Given the description of an element on the screen output the (x, y) to click on. 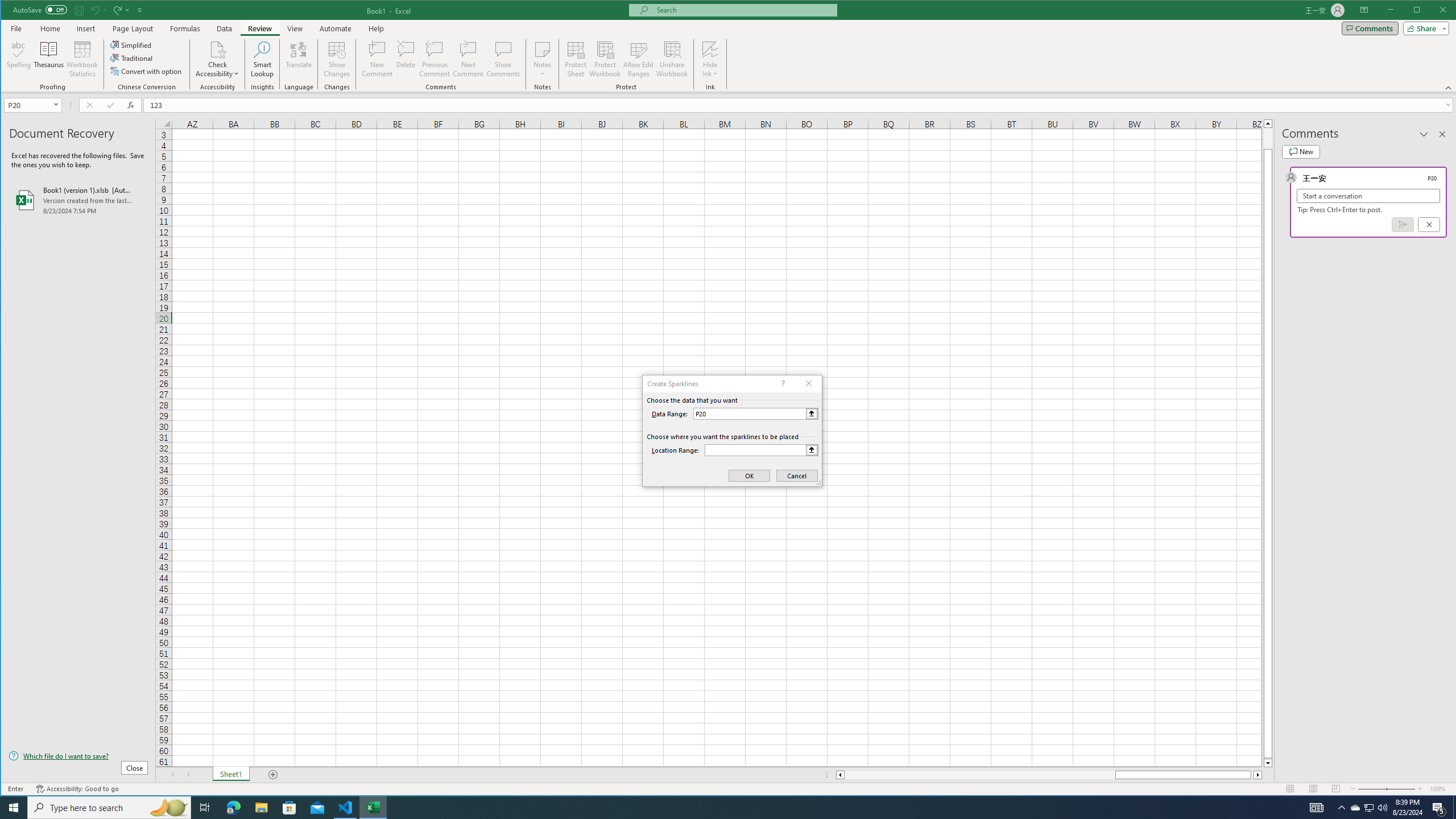
Protect Workbook... (604, 59)
Thesaurus... (48, 59)
Workbook Statistics (82, 59)
Start a conversation (1368, 195)
